Given the description of an element on the screen output the (x, y) to click on. 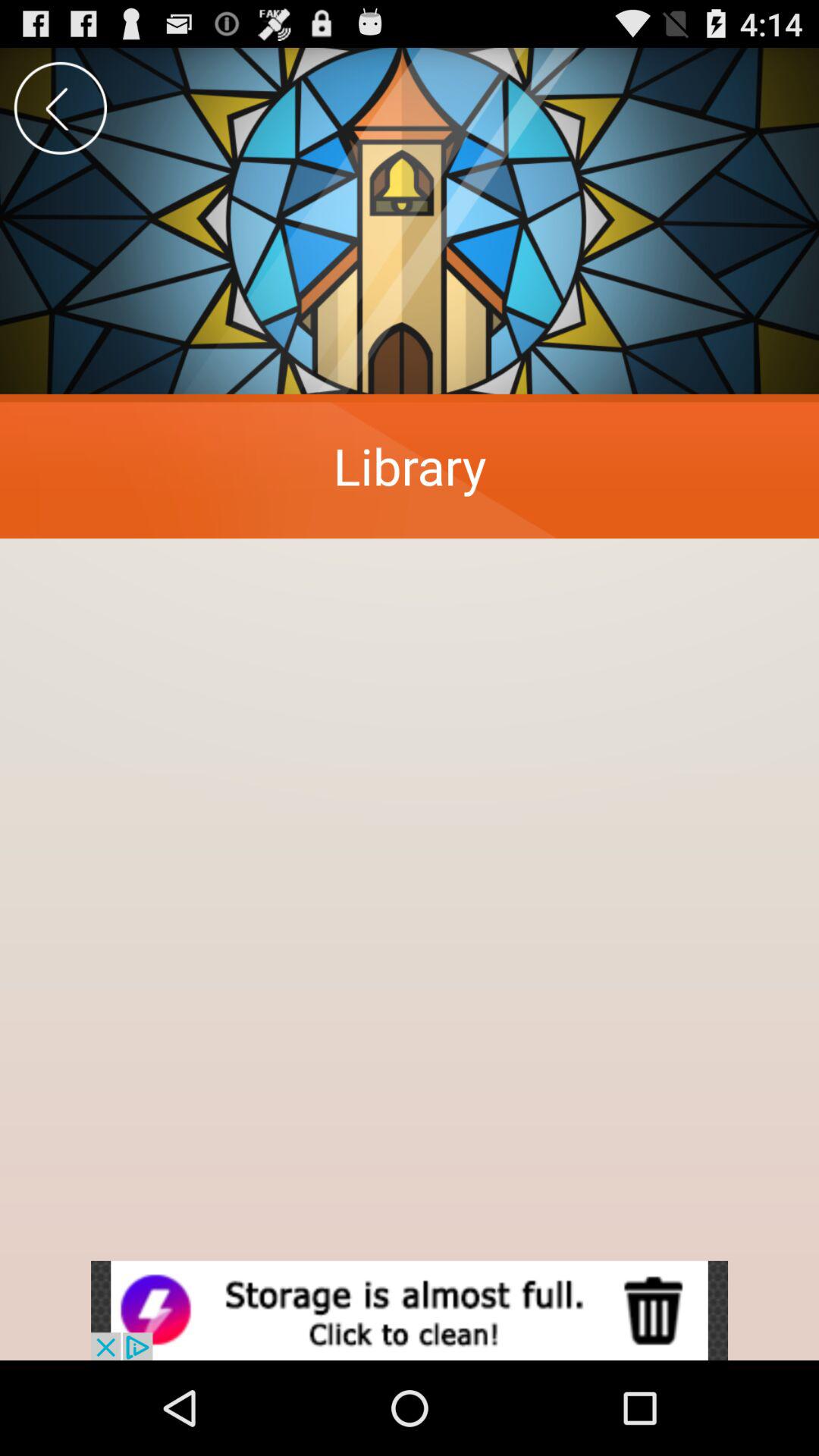
open advertisement (409, 1310)
